Given the description of an element on the screen output the (x, y) to click on. 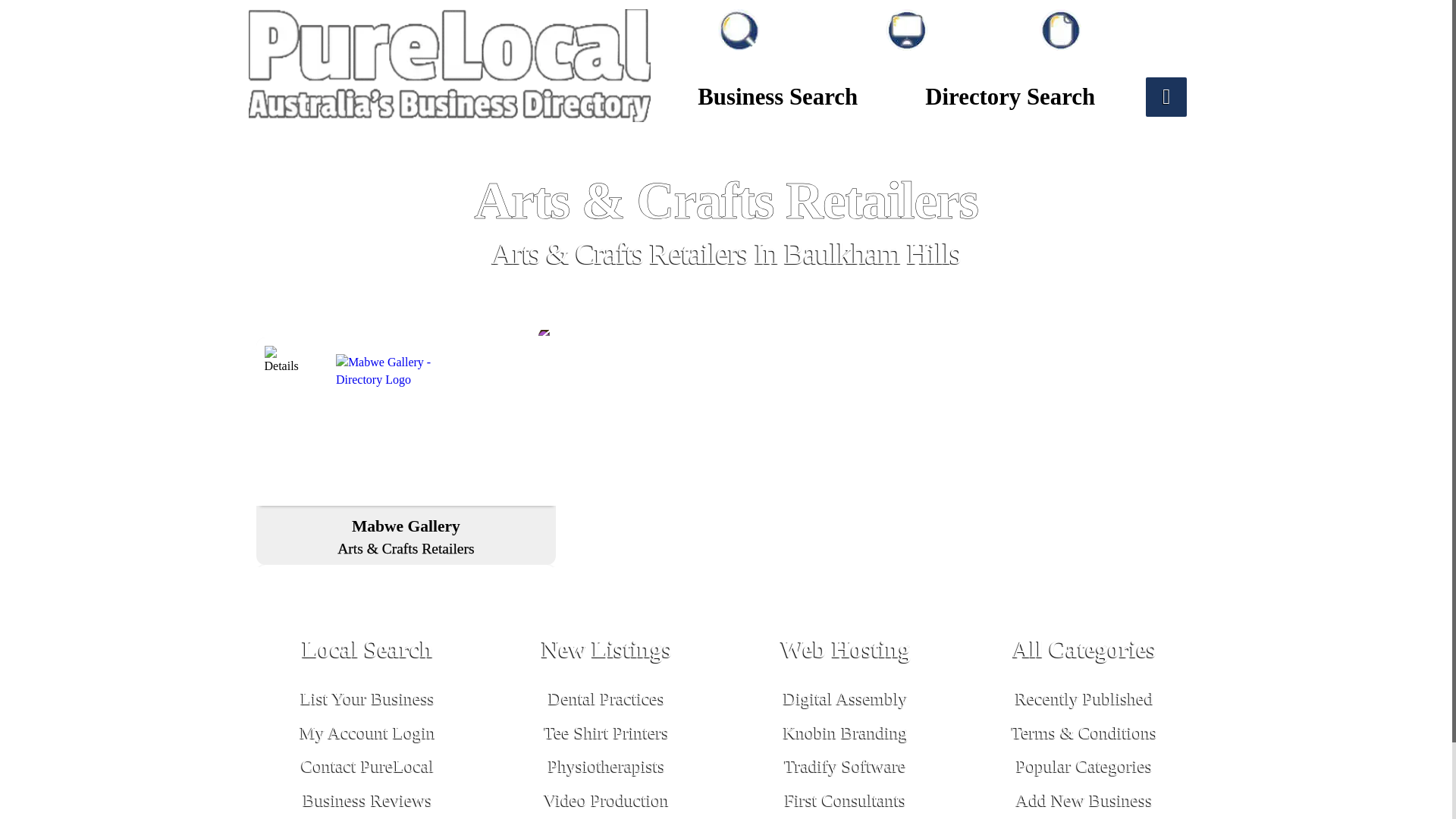
Contact PureLocal (367, 765)
First Consultants (844, 799)
Premium Web Hosting in Australia (845, 652)
New Listings (606, 652)
Menu (954, 27)
Digital Assembly (845, 698)
Physiotherapists (606, 765)
Knobin Branding (845, 732)
Search (793, 27)
Business Reviews (367, 799)
